Given the description of an element on the screen output the (x, y) to click on. 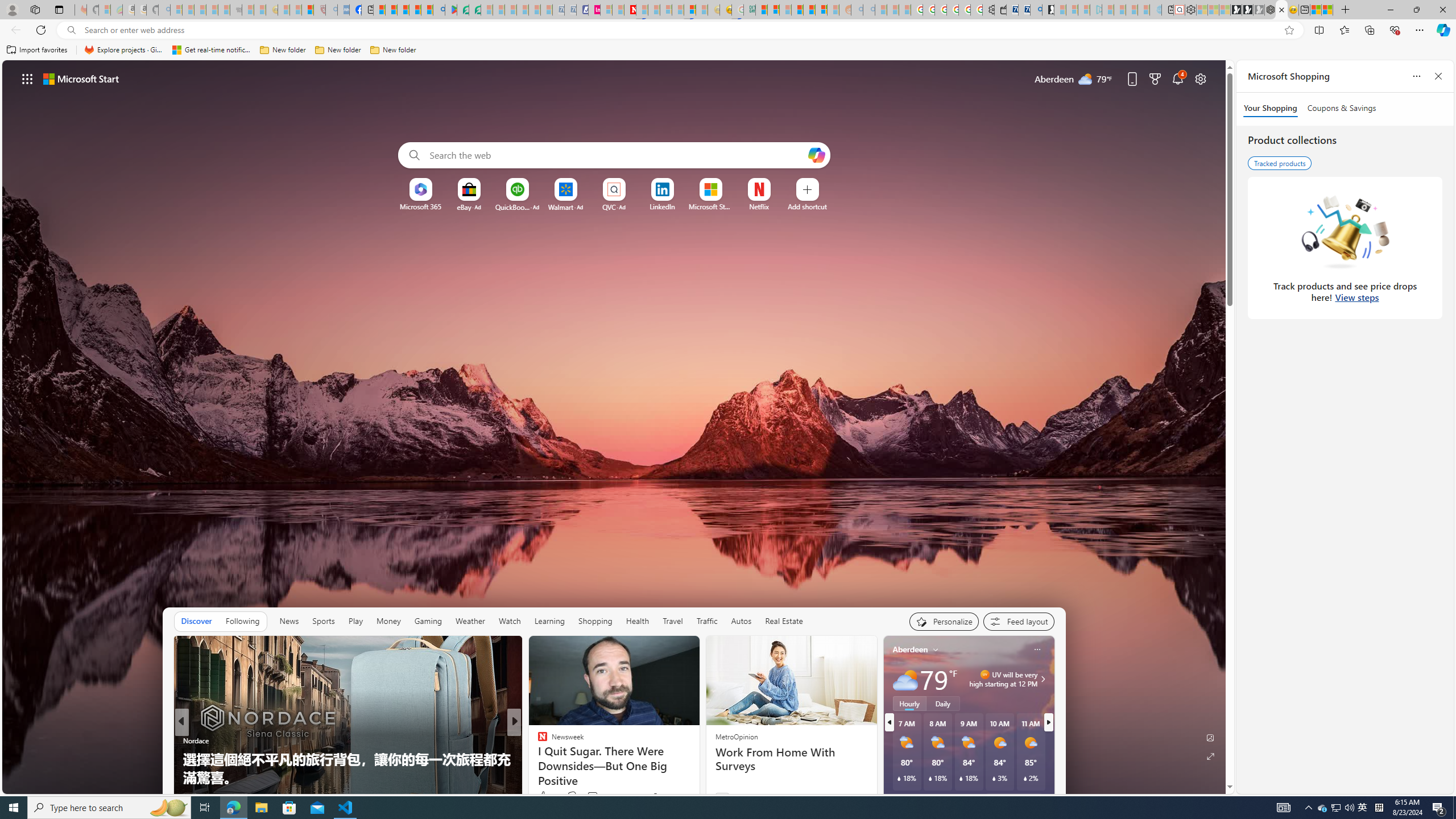
Class: weather-current-precipitation-glyph (1024, 778)
Shopping (595, 621)
View comments 84 Comment (597, 796)
Travel (672, 621)
Gaming (428, 621)
UV will be very high starting at 12 PM (1040, 678)
Favorites bar (728, 49)
